Given the description of an element on the screen output the (x, y) to click on. 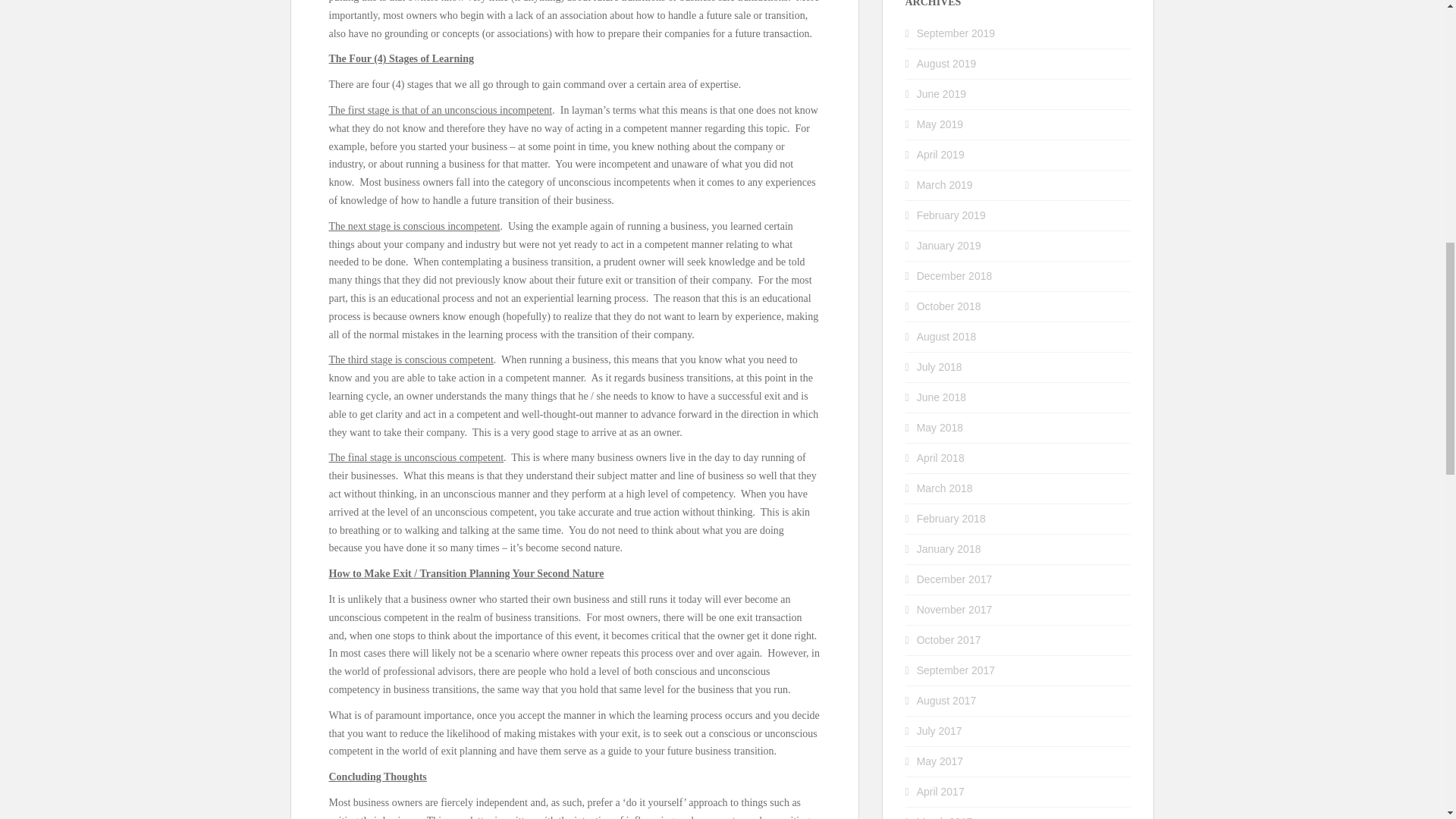
September 2019 (956, 33)
